Given the description of an element on the screen output the (x, y) to click on. 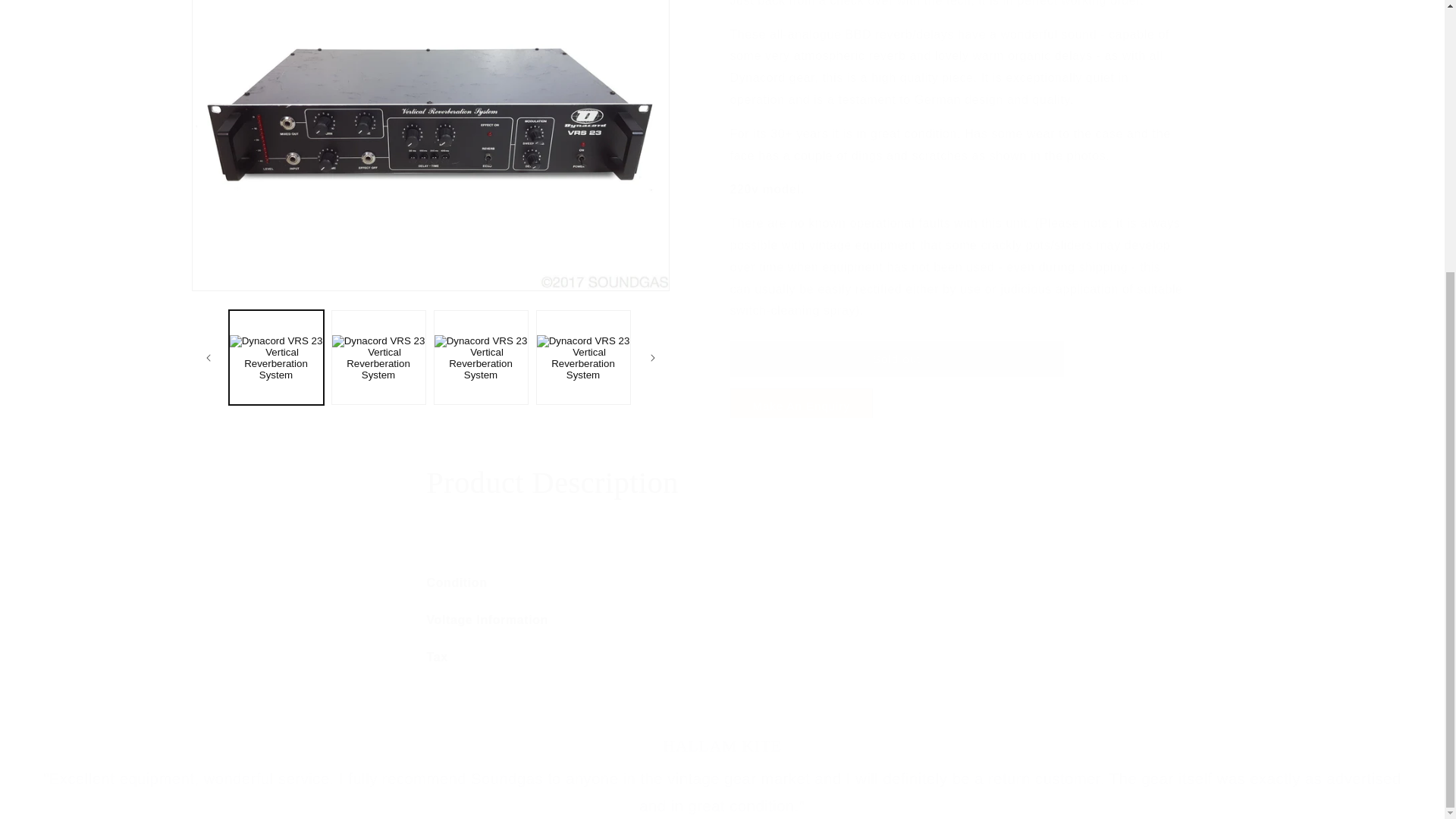
Open media 1 in modal (429, 25)
Product Description (721, 482)
Tax (721, 658)
Voltage Information (721, 620)
Condition (721, 583)
